Given the description of an element on the screen output the (x, y) to click on. 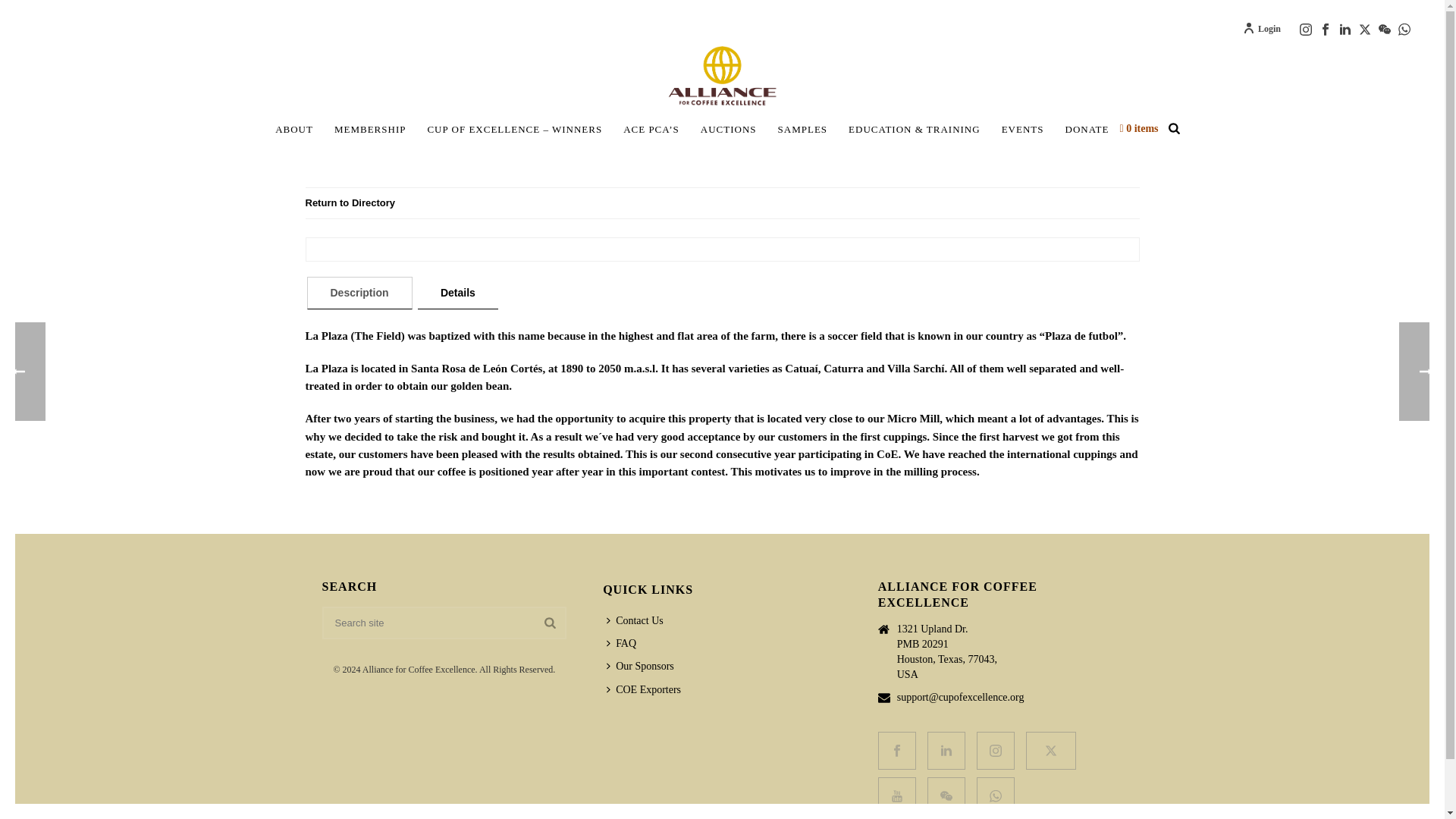
Alliance For Coffee Excellence (721, 75)
MEMBERSHIP (369, 129)
Follow Us on wechat (946, 795)
EVENTS (1022, 129)
ABOUT (293, 129)
Login (1262, 28)
Follow Us on instagram (995, 750)
Follow Us on whatsapp (995, 795)
Follow Us on facebook (896, 750)
Follow Us on twitter (1050, 750)
